Given the description of an element on the screen output the (x, y) to click on. 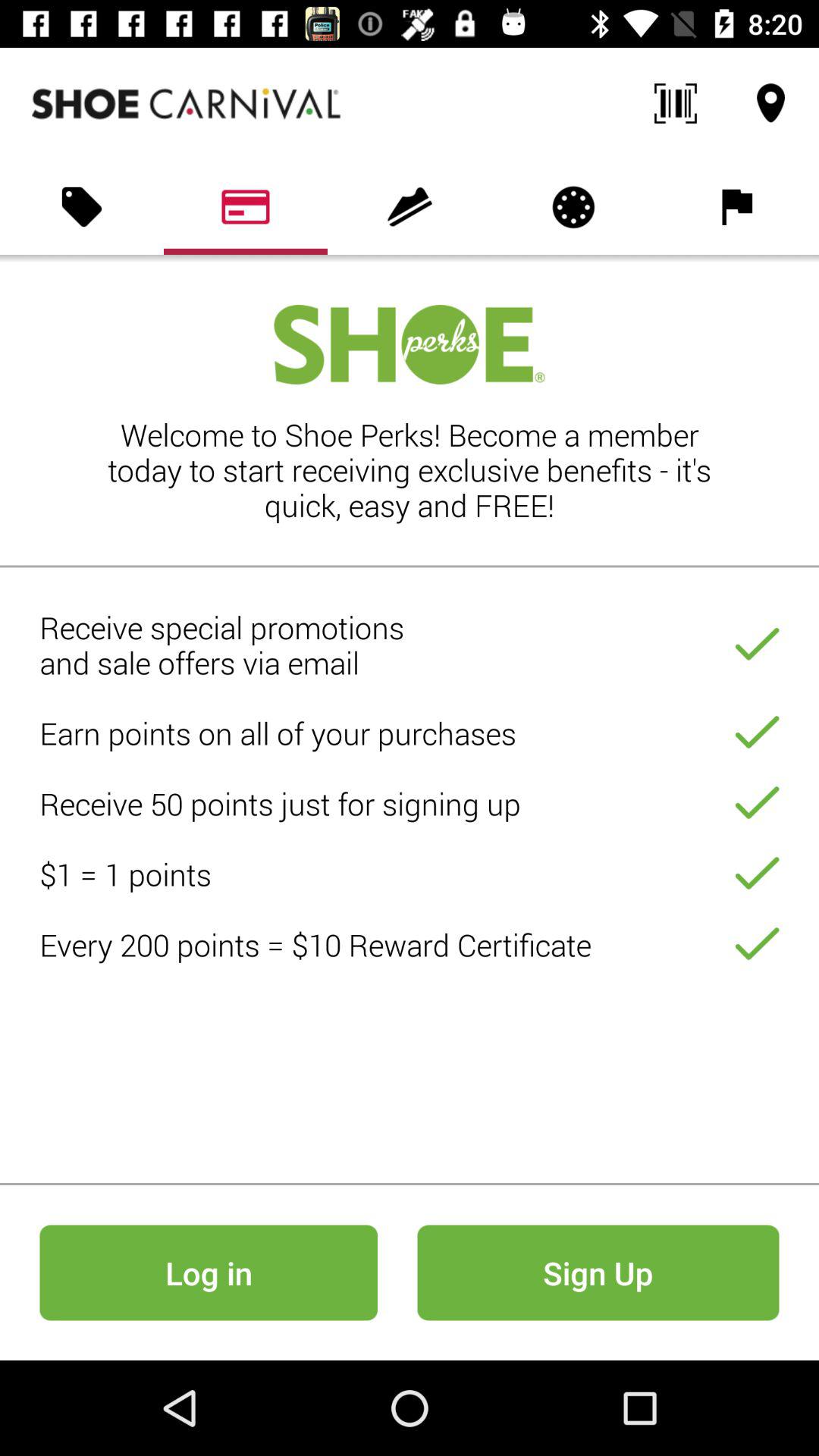
tap item next to the log in item (598, 1272)
